Given the description of an element on the screen output the (x, y) to click on. 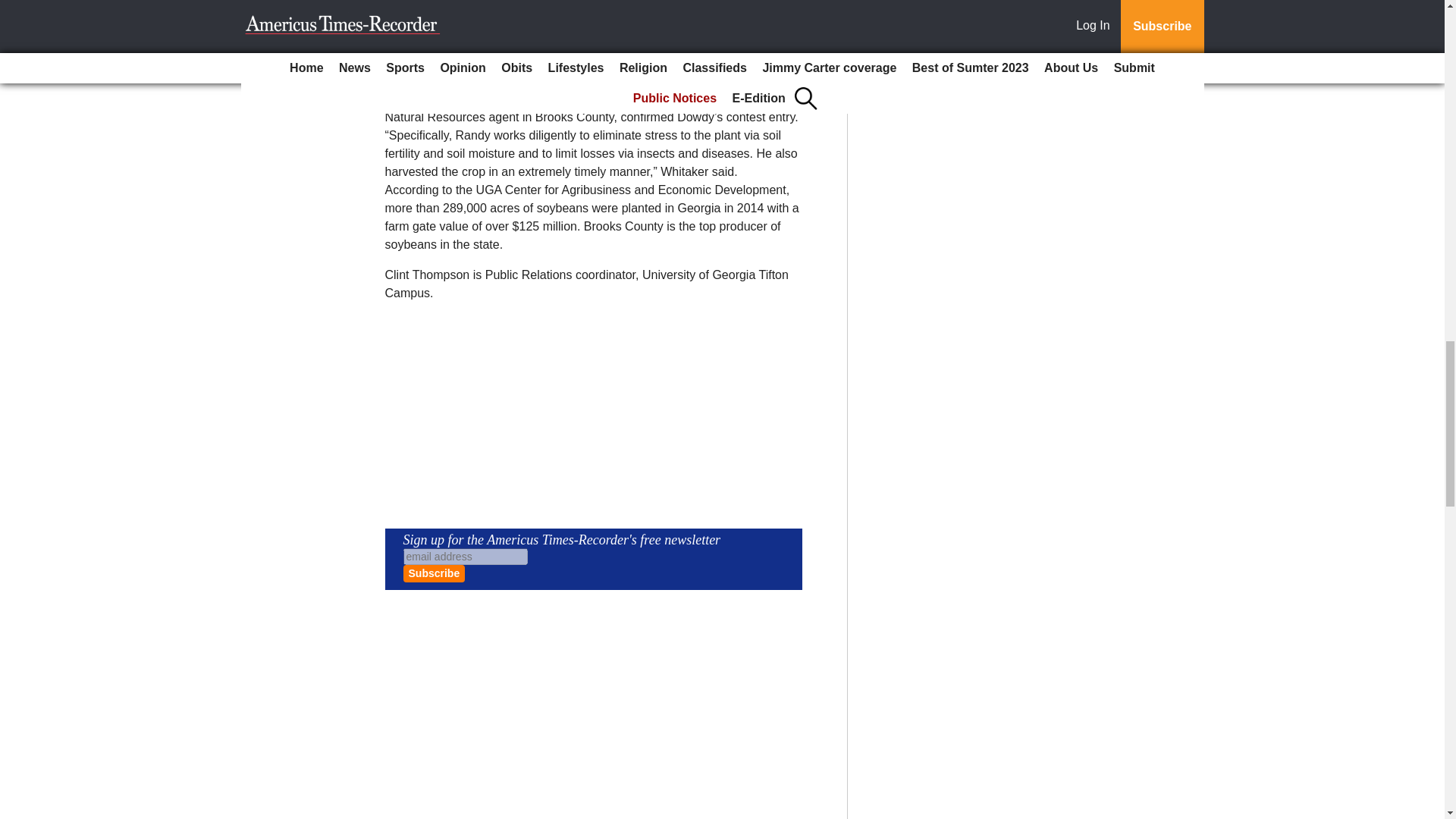
Subscribe (434, 573)
Subscribe (434, 573)
